Given the description of an element on the screen output the (x, y) to click on. 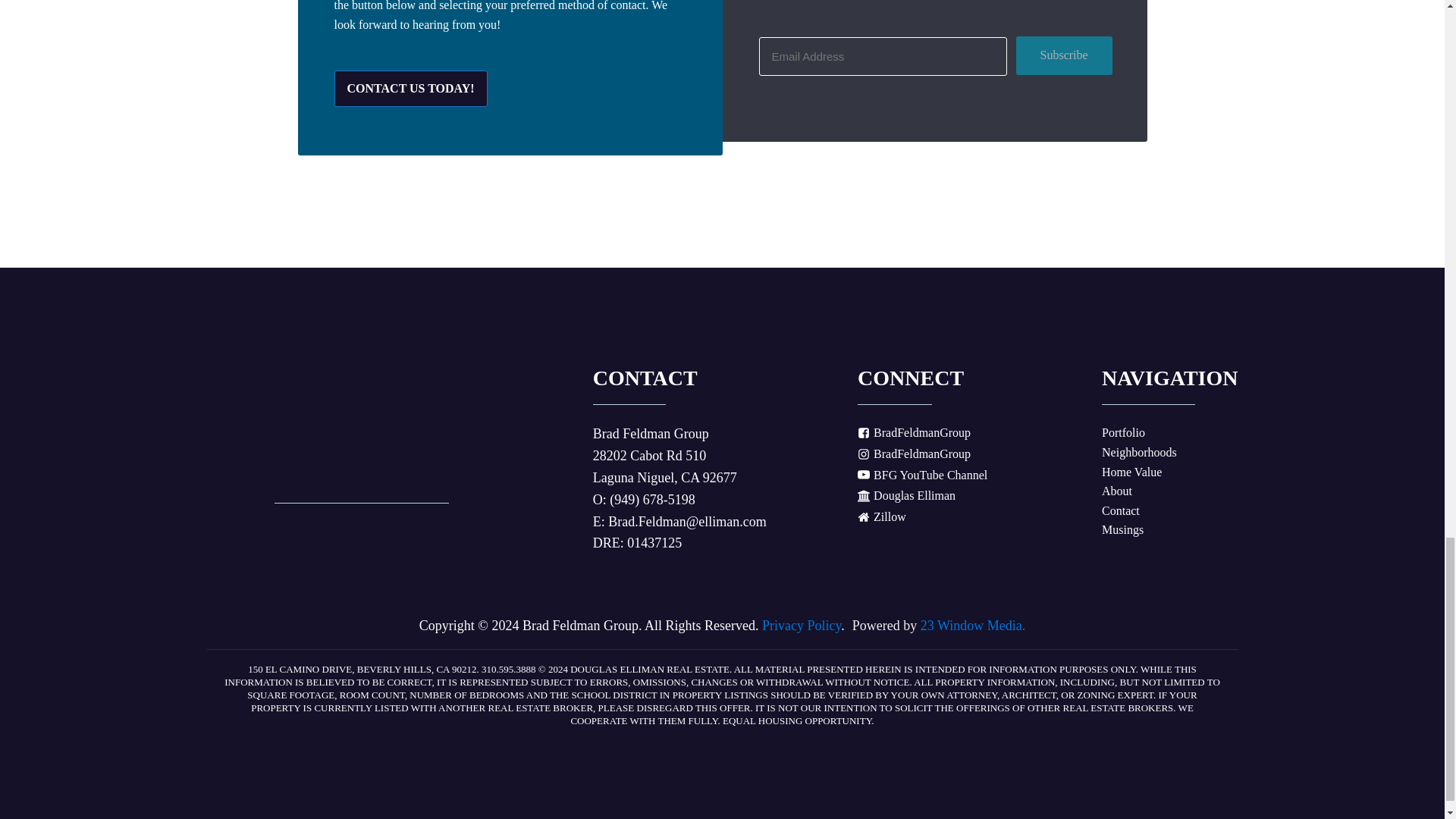
BradFeldmanGroup (914, 454)
Home Value (1131, 472)
Subscribe (1064, 55)
Portfolio (1123, 433)
Contact (1121, 510)
Privacy Policy (801, 625)
BradFeldmanGroup (914, 433)
BFG YouTube Channel (922, 475)
23 Window Media. (972, 625)
Douglas Elliman (906, 496)
CONTACT US TODAY! (409, 88)
Subscribe (1064, 55)
Neighborhoods (1139, 452)
Zillow (881, 516)
Musings (1122, 529)
